Given the description of an element on the screen output the (x, y) to click on. 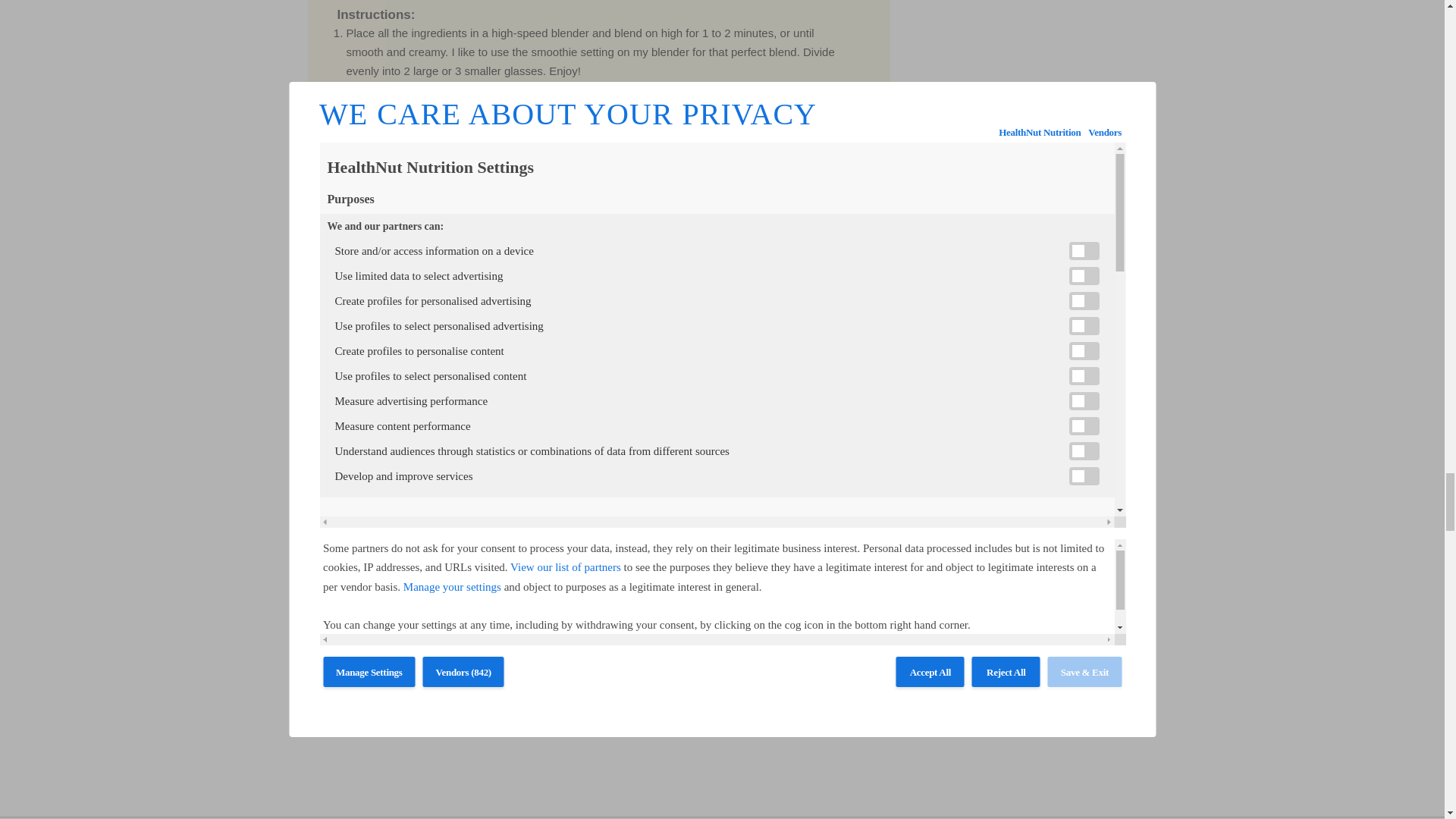
Pumpkin Pie Smoothie Bowl (597, 467)
